Given the description of an element on the screen output the (x, y) to click on. 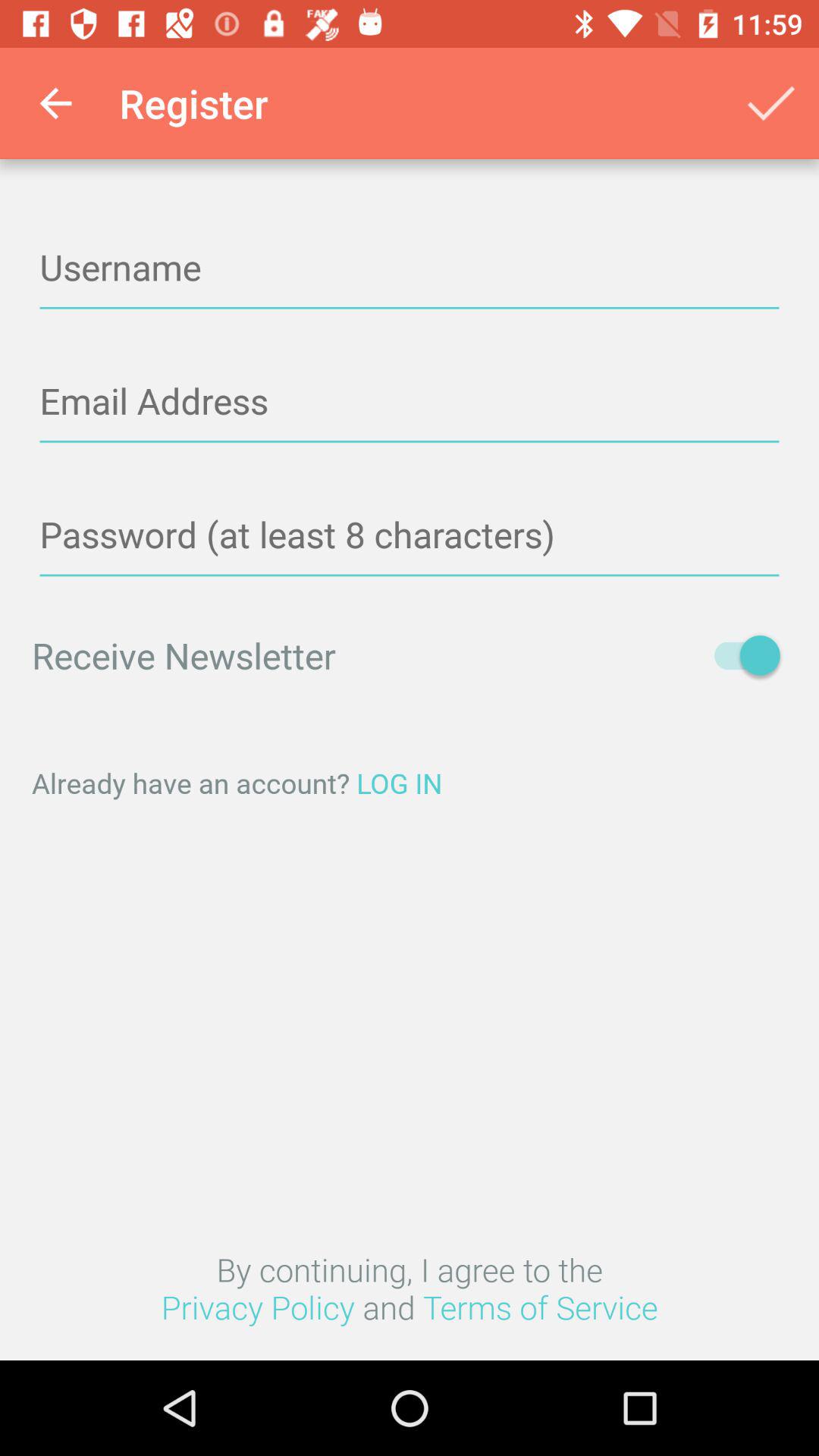
click item to the right of the receive newsletter item (739, 655)
